Given the description of an element on the screen output the (x, y) to click on. 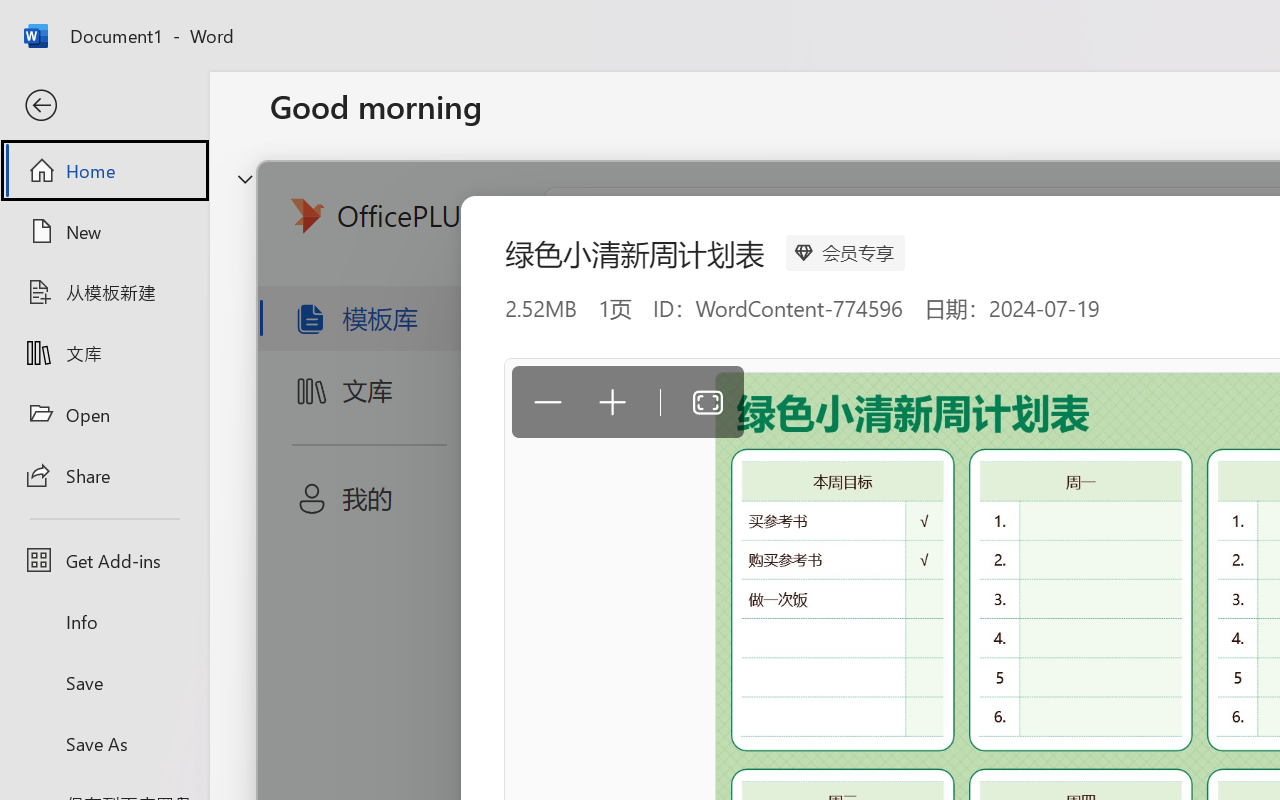
Get Add-ins (104, 560)
Info (104, 621)
Recent (316, 636)
New (104, 231)
